Given the description of an element on the screen output the (x, y) to click on. 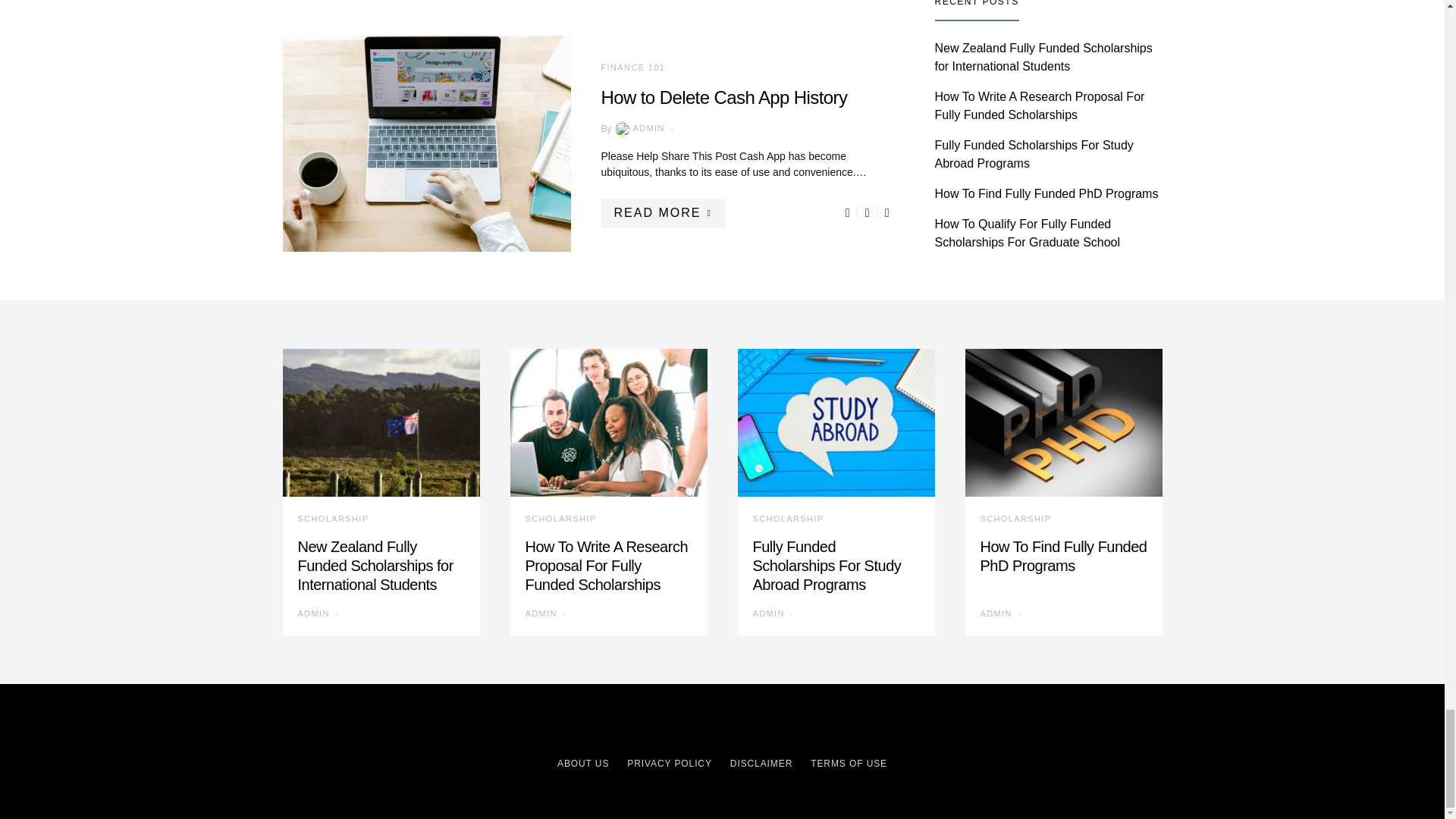
Fully Funded Scholarships For Study Abroad Programs (826, 565)
View all posts by admin (540, 613)
View all posts by admin (638, 128)
View all posts by admin (313, 613)
